Given the description of an element on the screen output the (x, y) to click on. 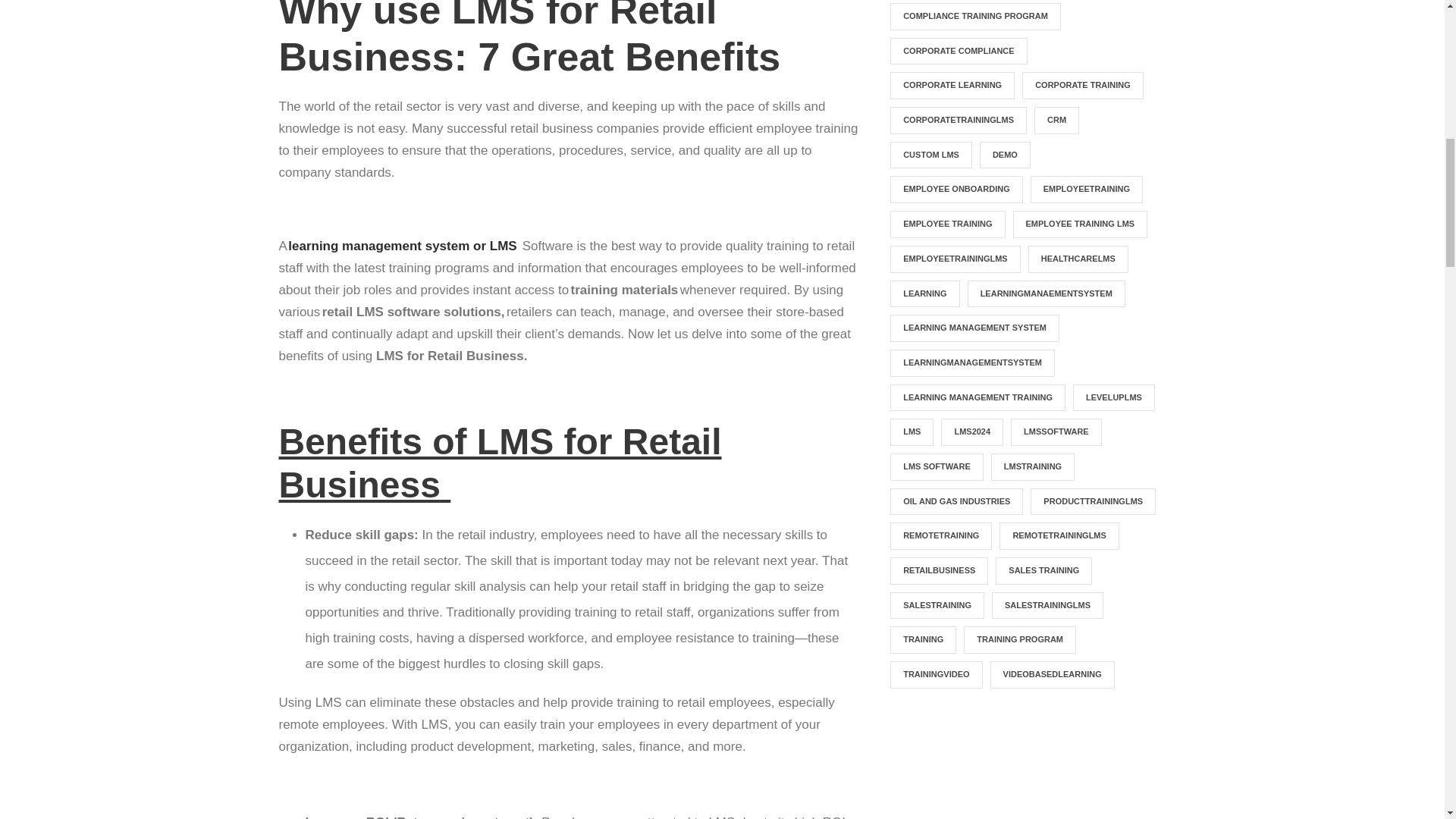
learning management system or LMS (402, 246)
